Given the description of an element on the screen output the (x, y) to click on. 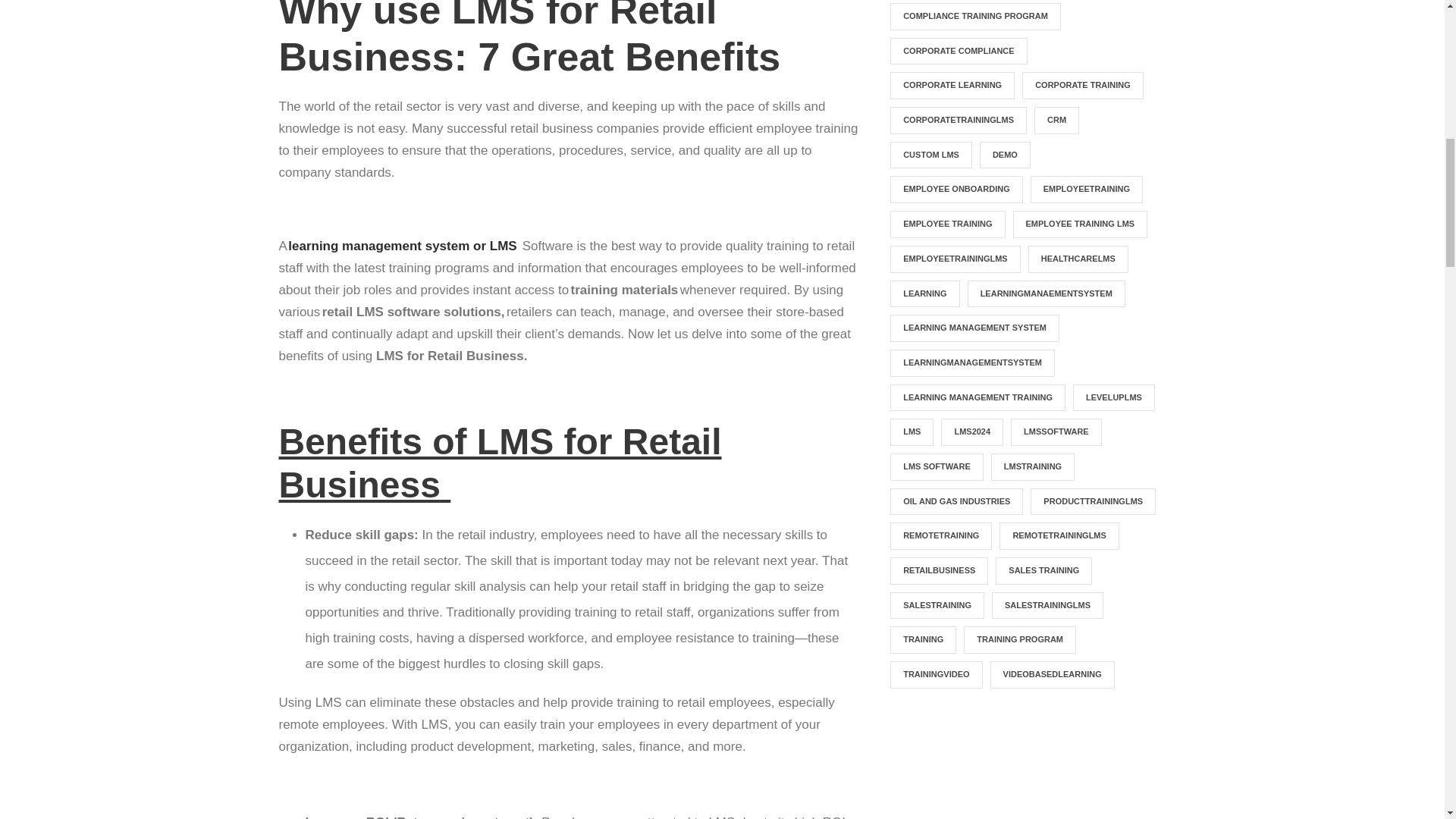
learning management system or LMS (402, 246)
